Given the description of an element on the screen output the (x, y) to click on. 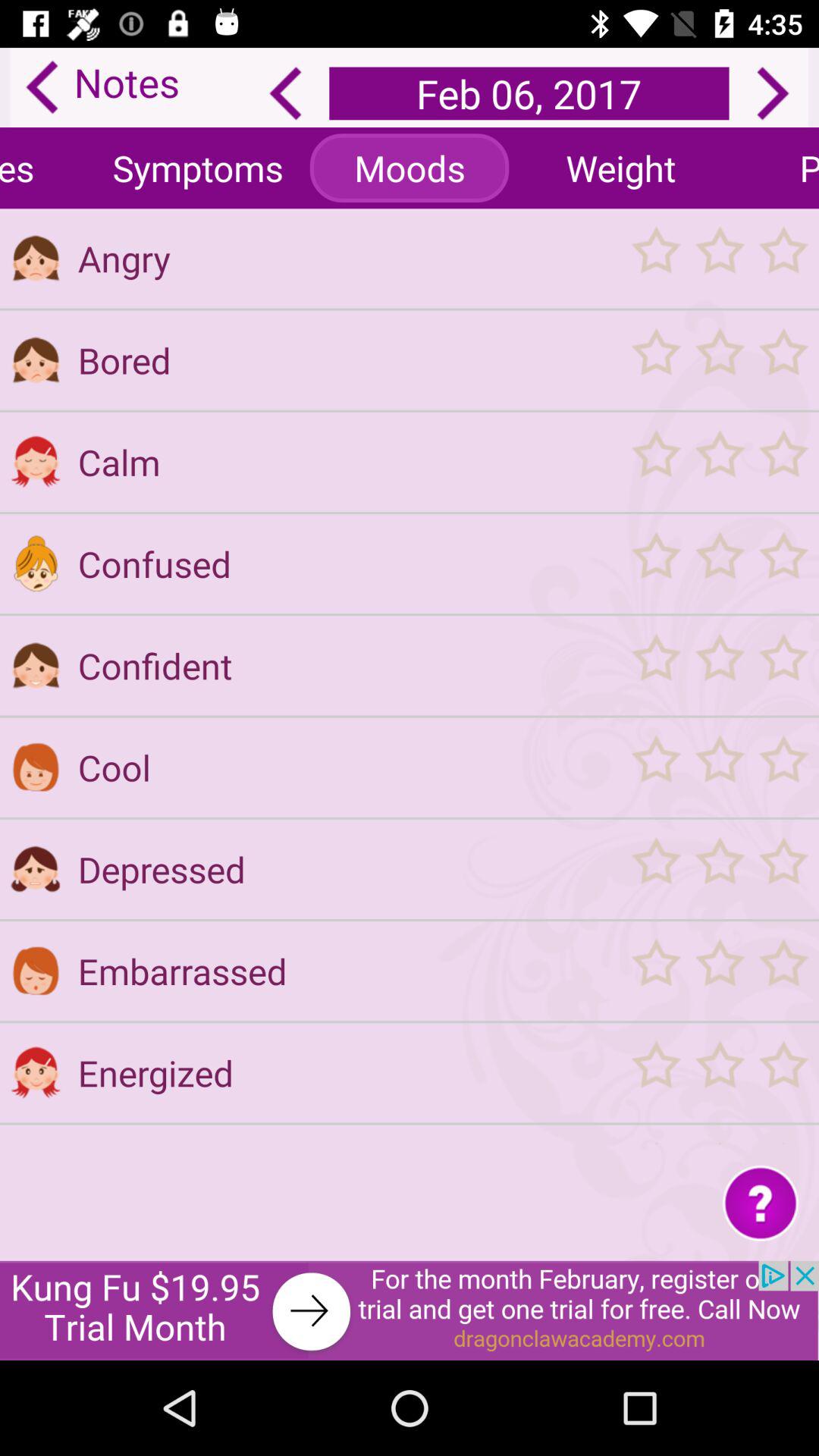
select energized (345, 1072)
select the moods option (409, 167)
select the text depressed (345, 869)
move to right of notes (285, 93)
select option symptoms on a page (197, 167)
select the button which is below the button calm (345, 563)
select the text which is above the text confused (345, 462)
select the icon in the fifth row left to the text confident (35, 665)
